Given the description of an element on the screen output the (x, y) to click on. 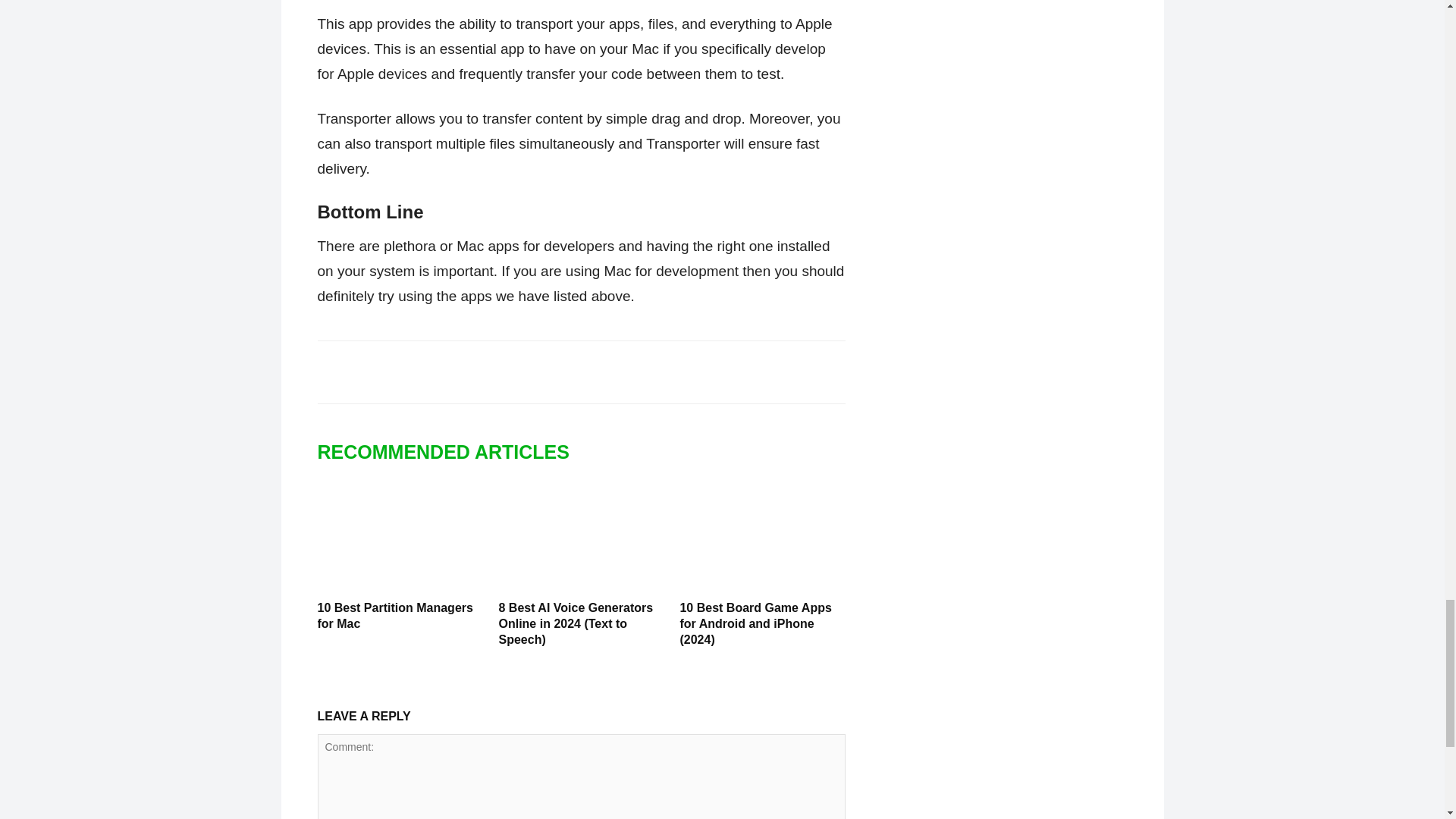
10 Best Partition Managers for Mac (399, 538)
